Given the description of an element on the screen output the (x, y) to click on. 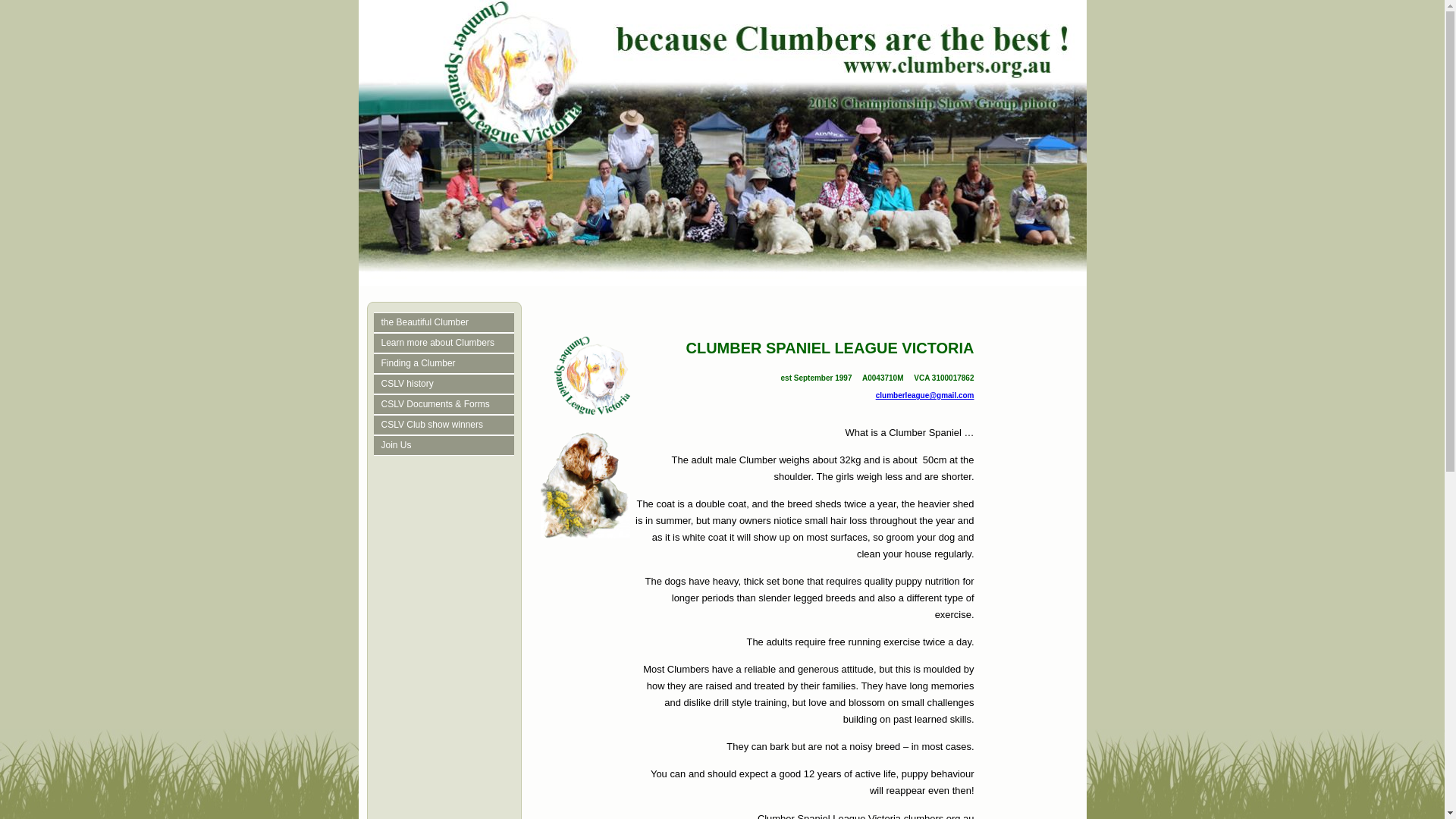
Learn more about Clumbers Element type: text (446, 342)
CSLV Club show winners Element type: text (446, 424)
Finding a Clumber Element type: text (446, 363)
CSLV history Element type: text (446, 383)
clumberleague@gmail.com Element type: text (924, 395)
Join Us Element type: text (446, 445)
CSLV Documents & Forms Element type: text (446, 404)
the Beautiful Clumber Element type: text (446, 322)
